Given the description of an element on the screen output the (x, y) to click on. 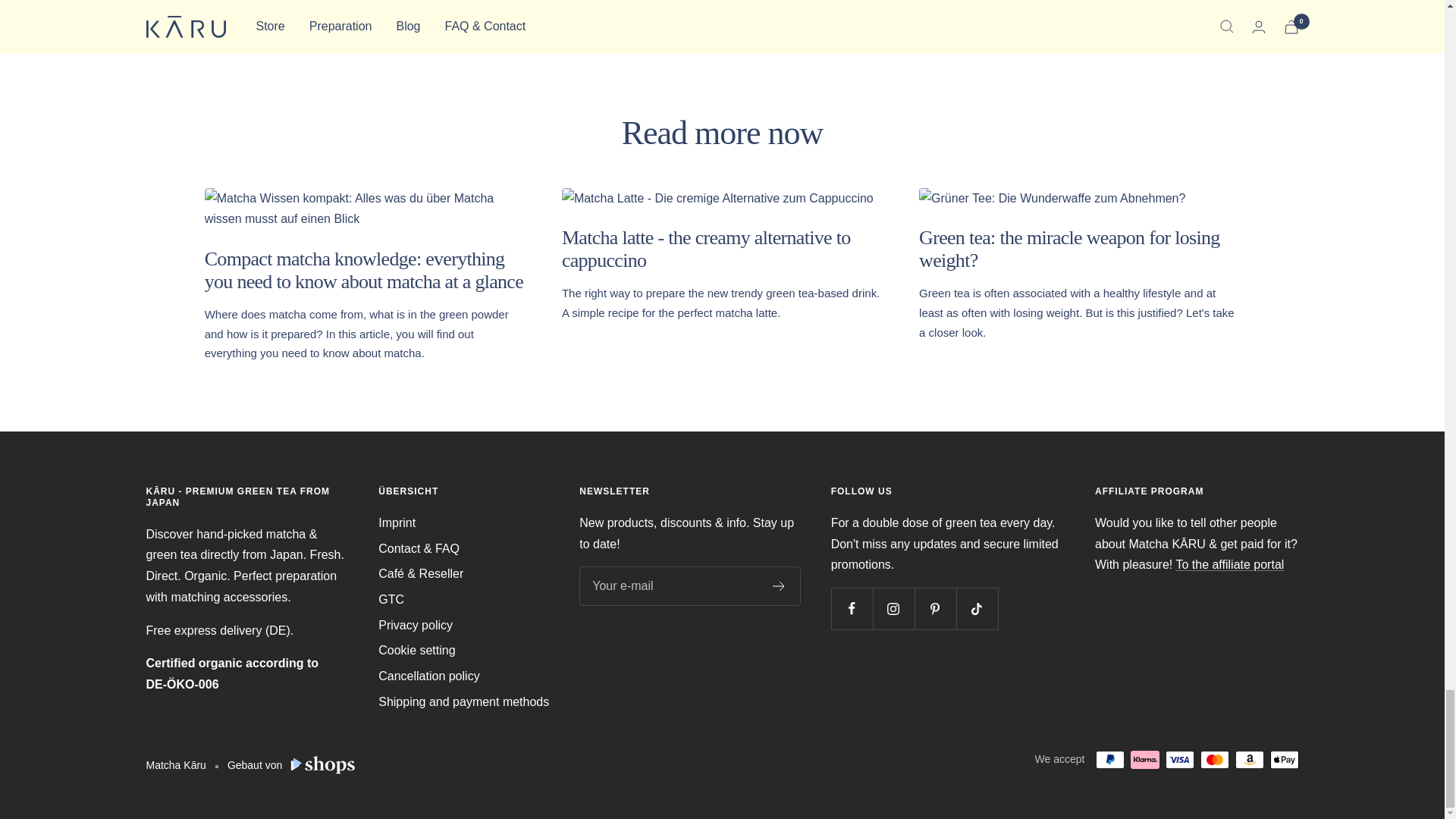
Matcha Karu Affiliate (1229, 563)
Register (779, 585)
